Given the description of an element on the screen output the (x, y) to click on. 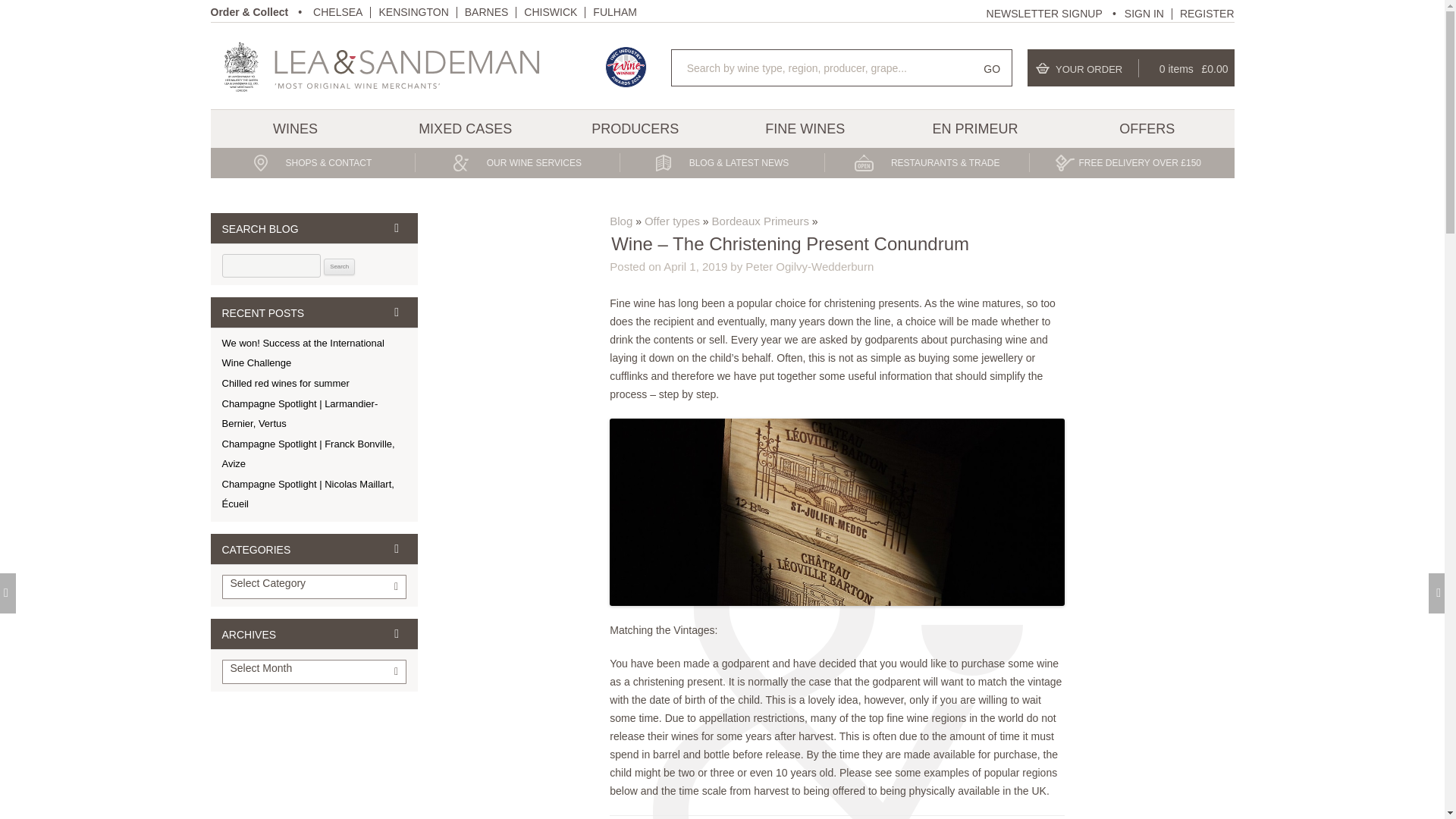
SIGN IN (1143, 13)
CHELSEA (337, 11)
Search (339, 266)
KENSINGTON (413, 11)
View basket dropdown (1130, 67)
FULHAM (614, 11)
CHISWICK (550, 11)
BARNES (486, 11)
REGISTER (1206, 13)
NEWSLETTER SIGNUP (1054, 12)
